Given the description of an element on the screen output the (x, y) to click on. 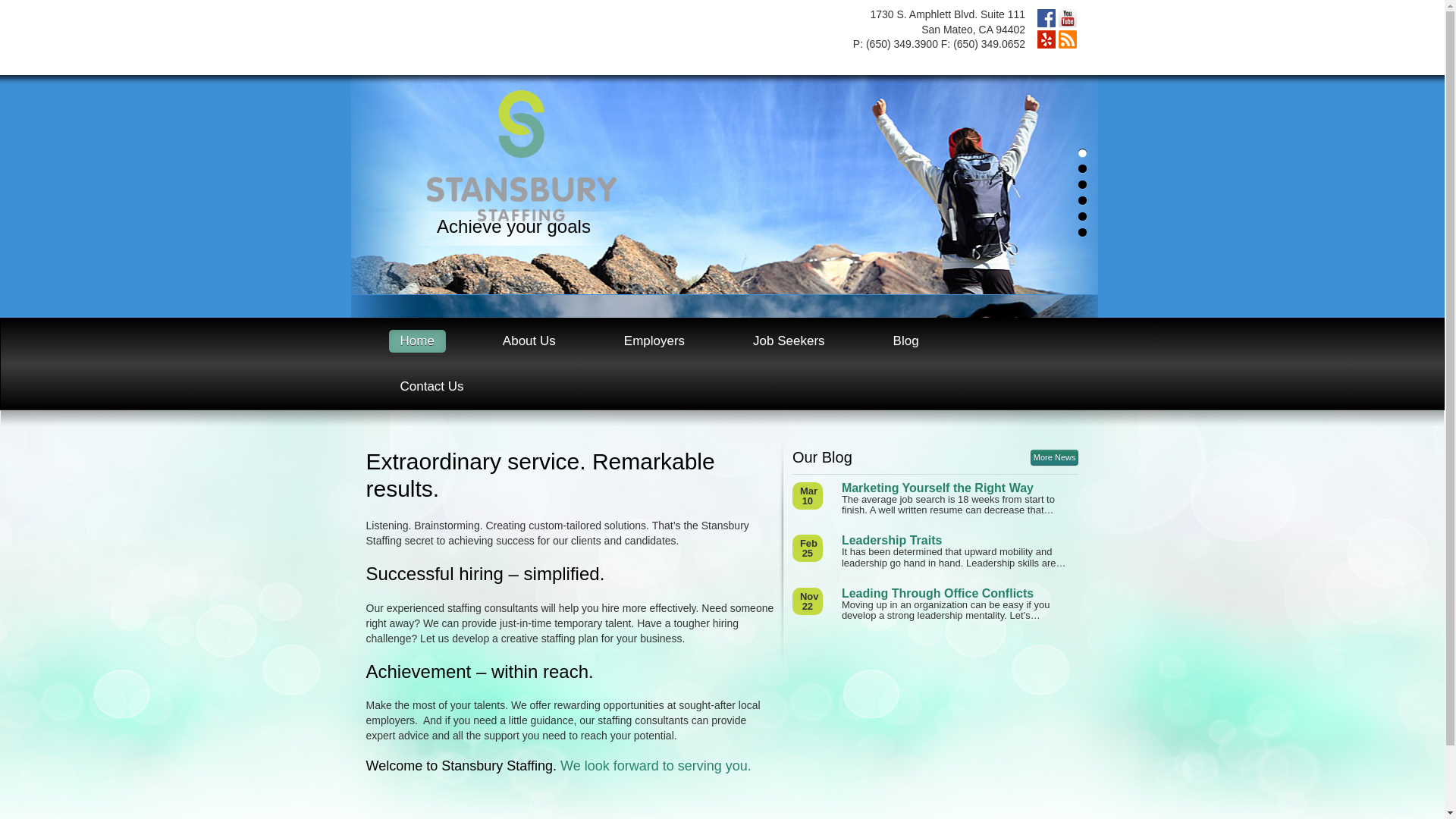
Contact Us (431, 386)
About Us (529, 341)
Watch us on YouTube (1067, 18)
Home (416, 341)
More News (1054, 457)
Leadership Traits (959, 540)
We look forward to serving you. (655, 765)
Employers (653, 341)
Like us on Facebook (1045, 18)
Our Blog RSS Feed (1067, 39)
Leading Through Office Conflicts (959, 593)
Job Seekers (788, 341)
Check us out on Yelp (1045, 39)
Blog (906, 341)
Marketing Yourself the Right Way (959, 488)
